Given the description of an element on the screen output the (x, y) to click on. 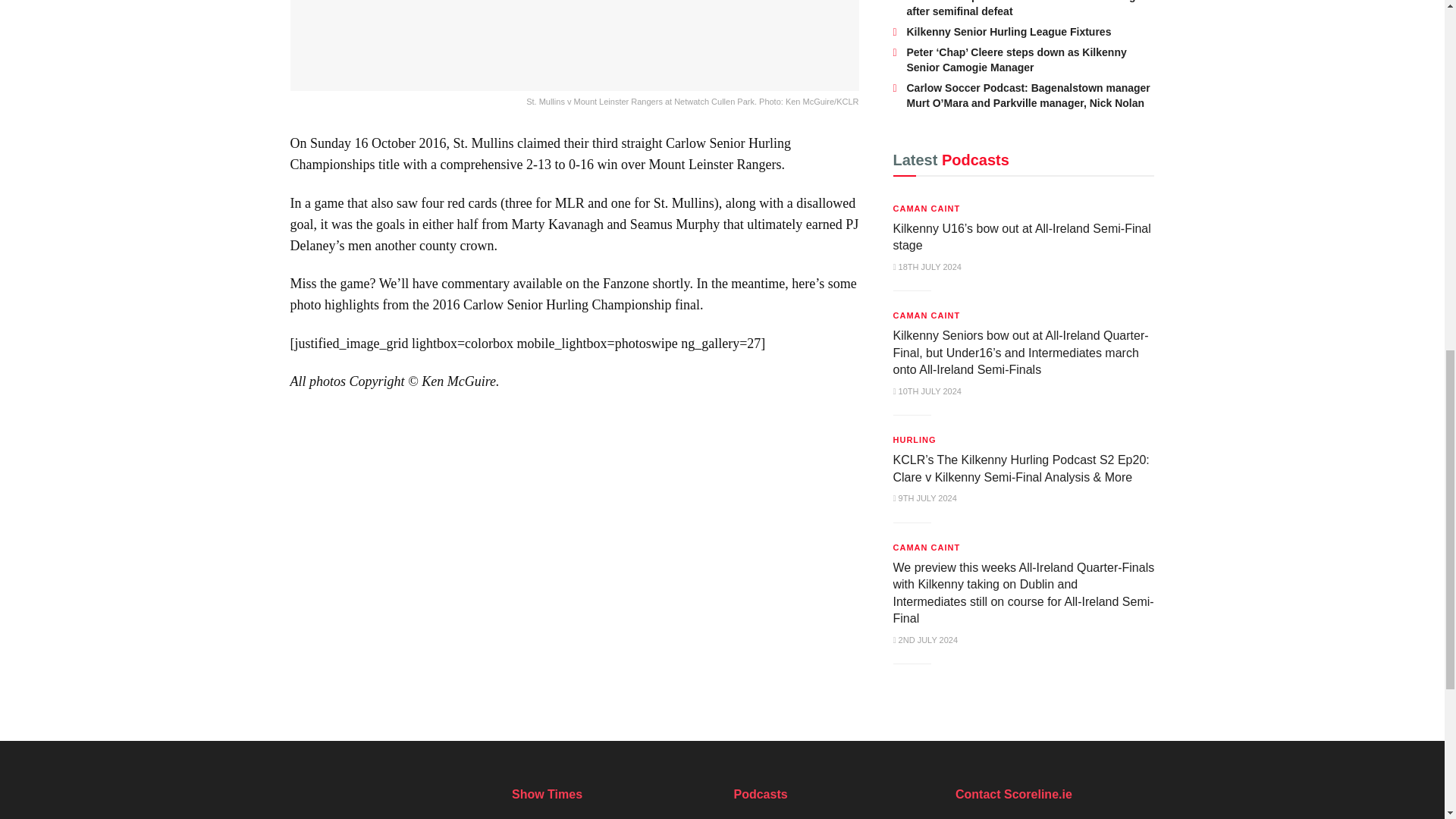
Kilkenny Senior Hurling League Fixtures (1009, 31)
CAMAN CAINT (926, 208)
10TH JULY 2024 (926, 390)
18TH JULY 2024 (926, 266)
CAMAN CAINT (926, 315)
